Given the description of an element on the screen output the (x, y) to click on. 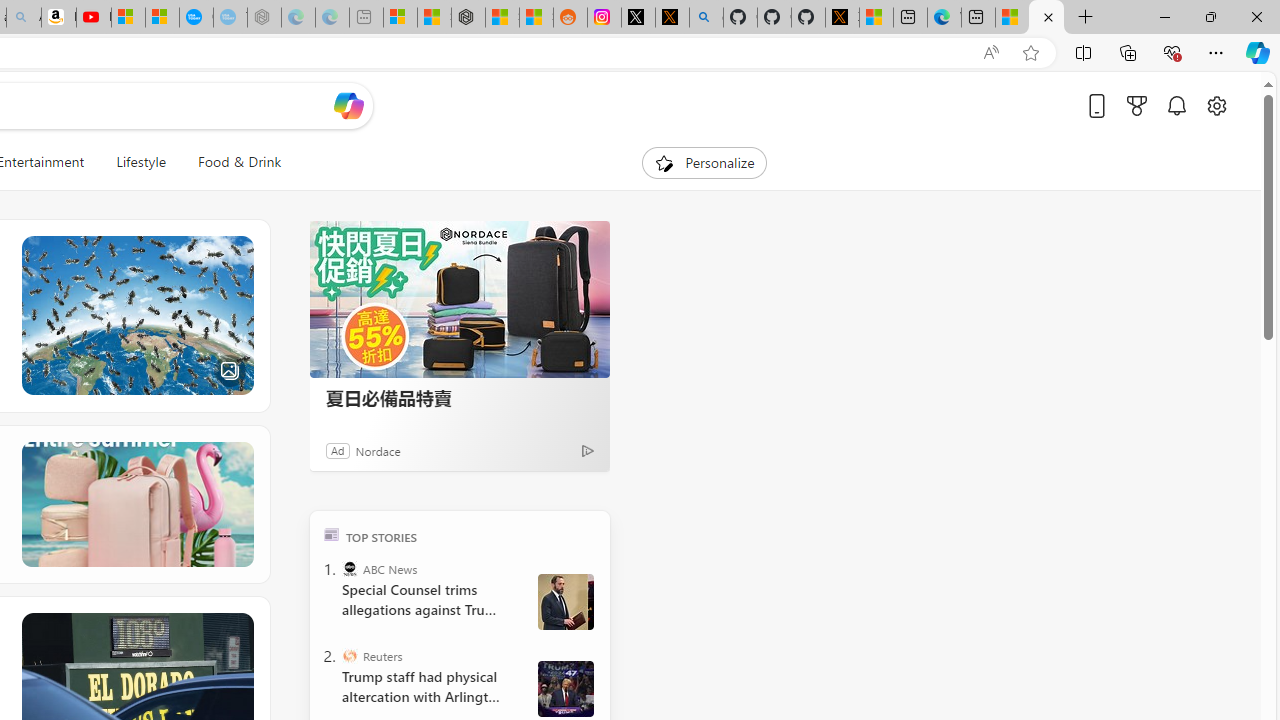
Day 1: Arriving in Yemen (surreal to be here) - YouTube (93, 17)
Food & Drink (231, 162)
Food & Drink (239, 162)
Open settings (1216, 105)
Nordace - Nordace has arrived Hong Kong - Sleeping (264, 17)
